Given the description of an element on the screen output the (x, y) to click on. 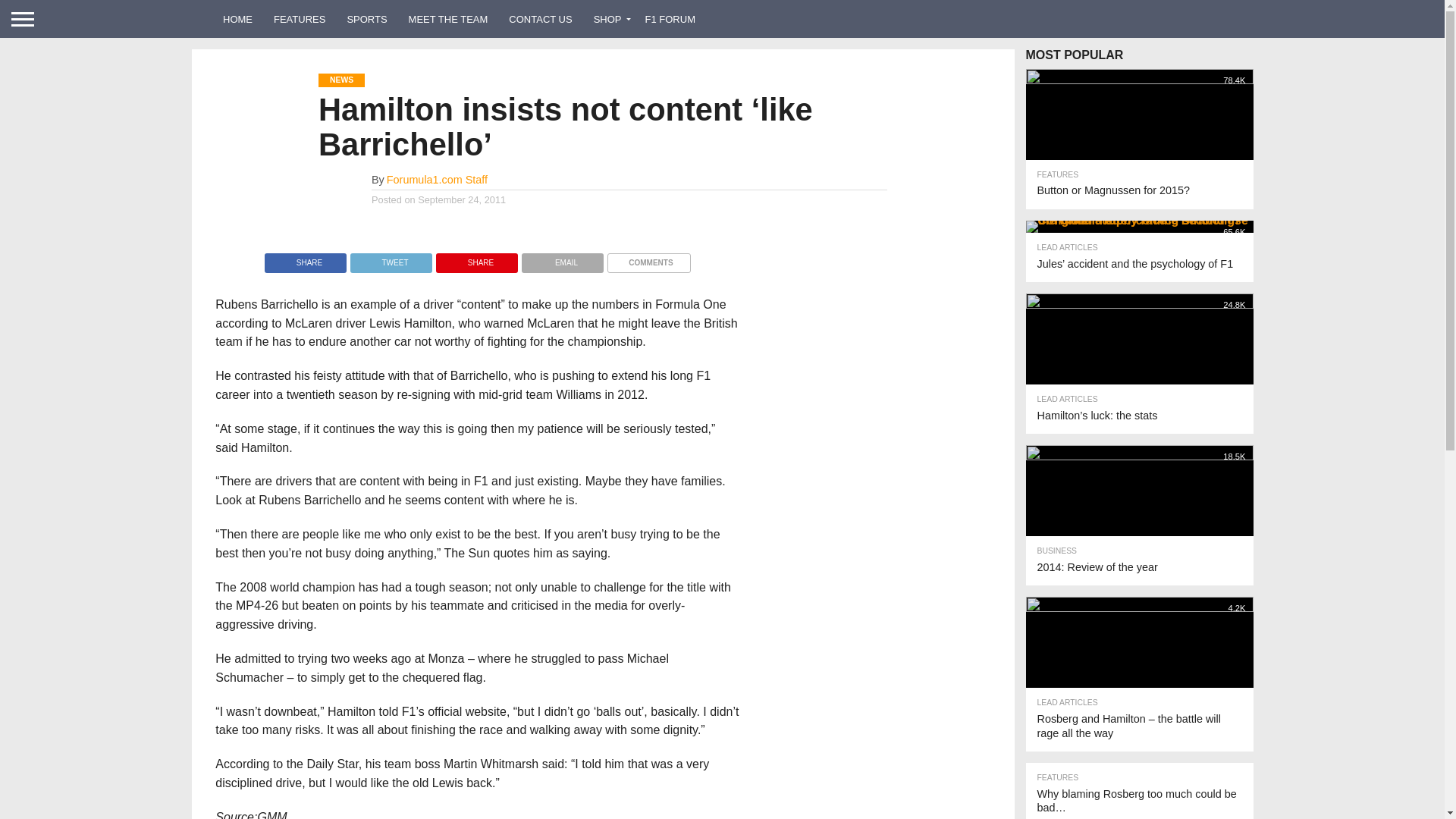
F1 FORUM (670, 18)
Share on Facebook (305, 258)
CONTACT US (539, 18)
Tweet This Post (390, 258)
Posts by Forumula1.com Staff (437, 179)
Pin This Post (476, 258)
HOME (237, 18)
SHOP (608, 18)
FEATURES (299, 18)
MEET THE TEAM (448, 18)
SPORTS (366, 18)
